Given the description of an element on the screen output the (x, y) to click on. 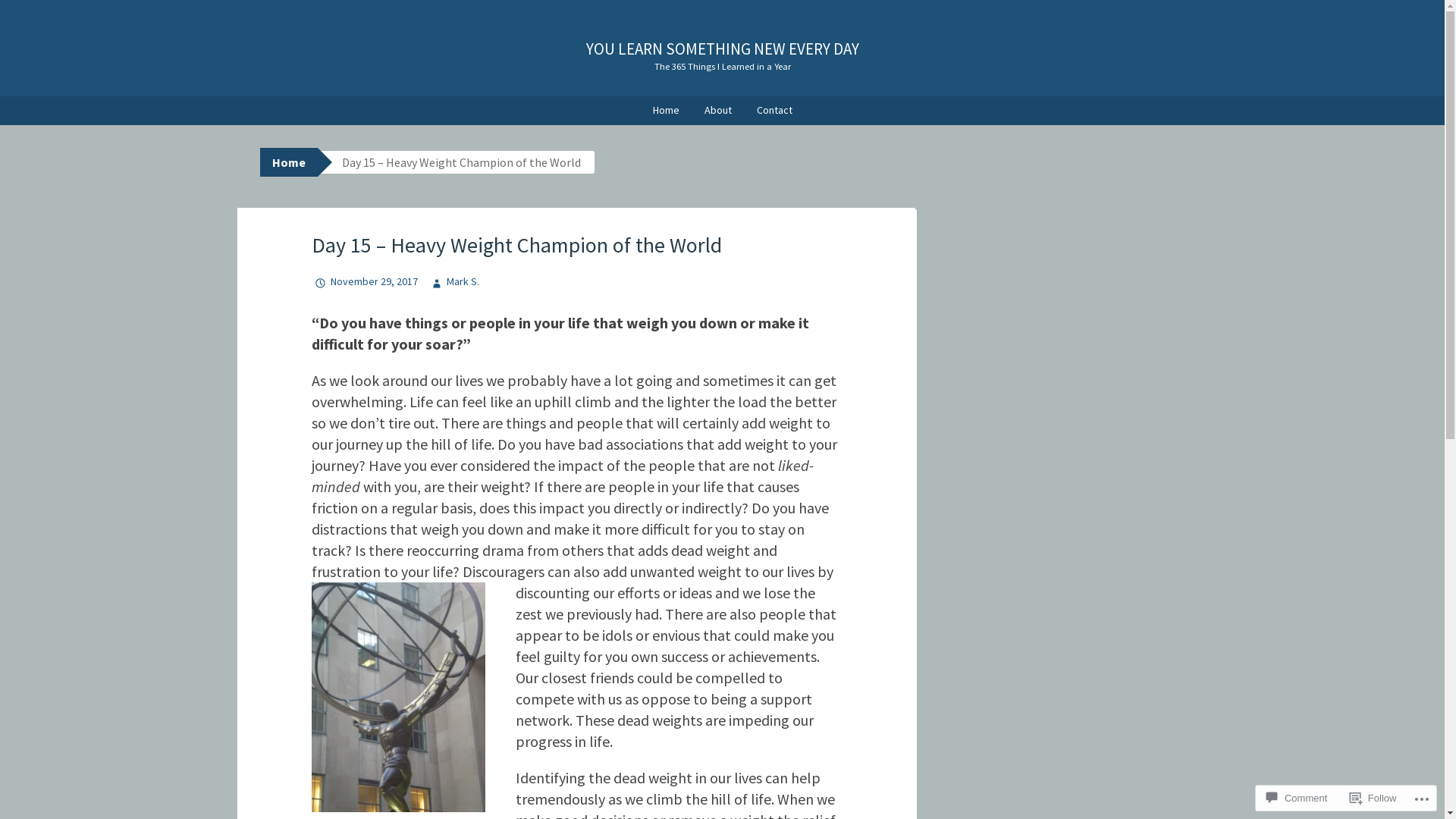
Home Element type: text (665, 110)
Mark S. Element type: text (453, 281)
Comment Element type: text (1296, 797)
About Element type: text (718, 110)
Contact Element type: text (773, 110)
Follow Element type: text (1372, 797)
Home Element type: text (287, 161)
YOU LEARN SOMETHING NEW EVERY DAY Element type: text (721, 48)
November 29, 2017 Element type: text (363, 281)
